Given the description of an element on the screen output the (x, y) to click on. 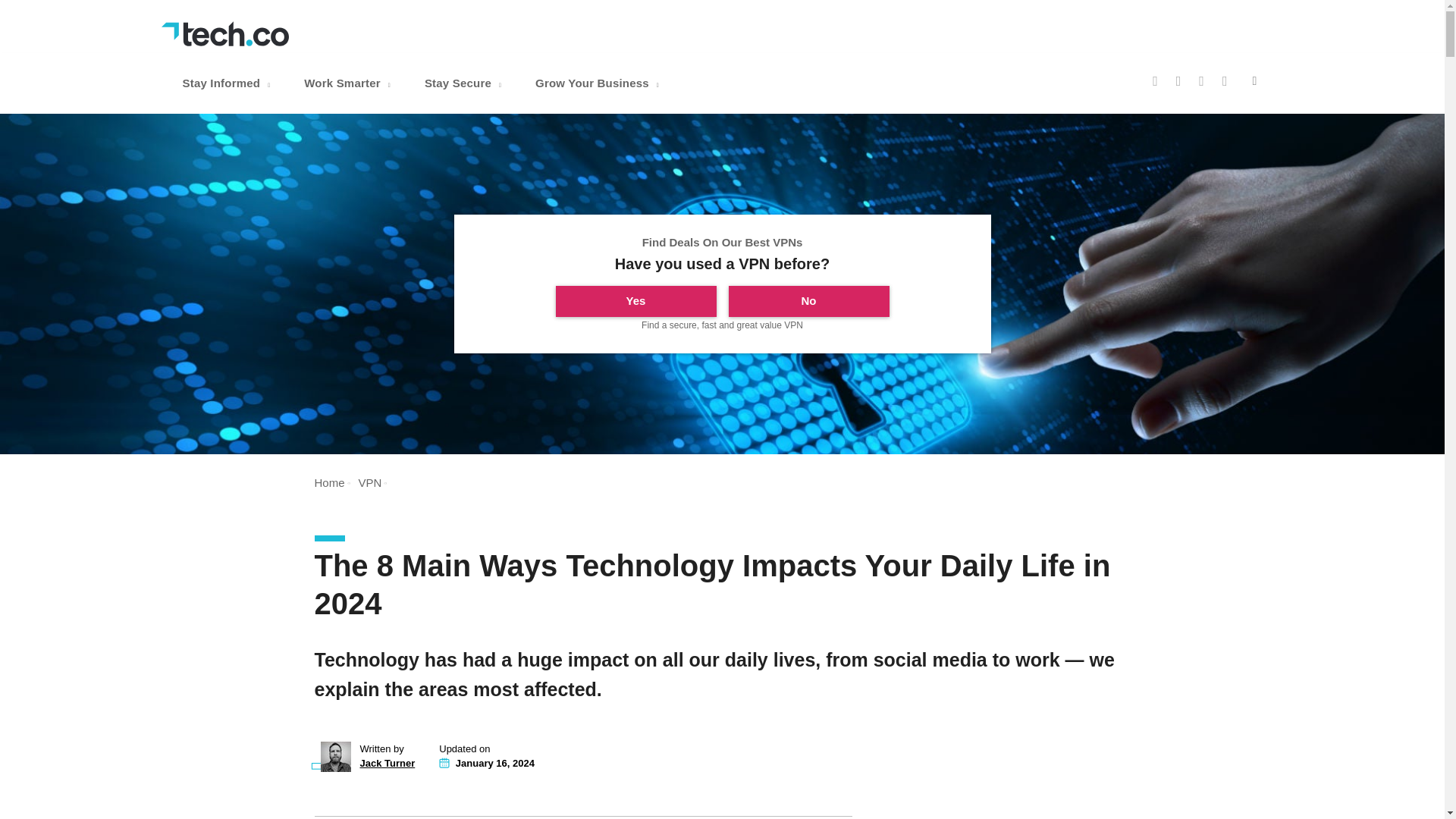
twitter-x (1178, 80)
Work Smarter (348, 83)
Stay Secure (464, 83)
facebook (1155, 80)
instagram (1201, 80)
Grow Your Business (598, 83)
Stay Informed (227, 83)
linkedin (1225, 80)
